Given the description of an element on the screen output the (x, y) to click on. 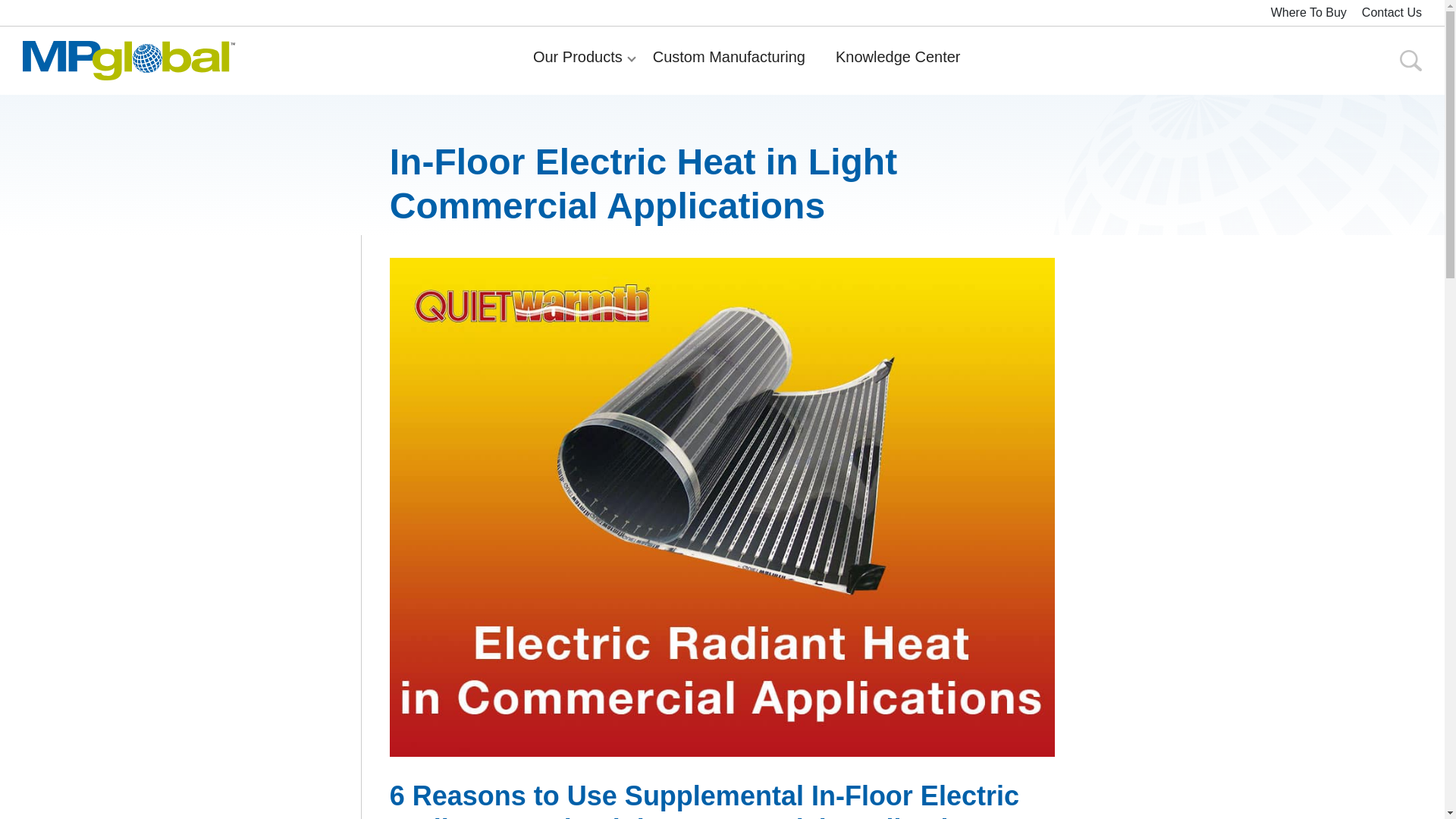
Where To Buy (1308, 13)
Search (1340, 63)
Contact Us (1391, 13)
Knowledge Center (898, 60)
Custom Manufacturing (729, 60)
Our Products (577, 60)
